Given the description of an element on the screen output the (x, y) to click on. 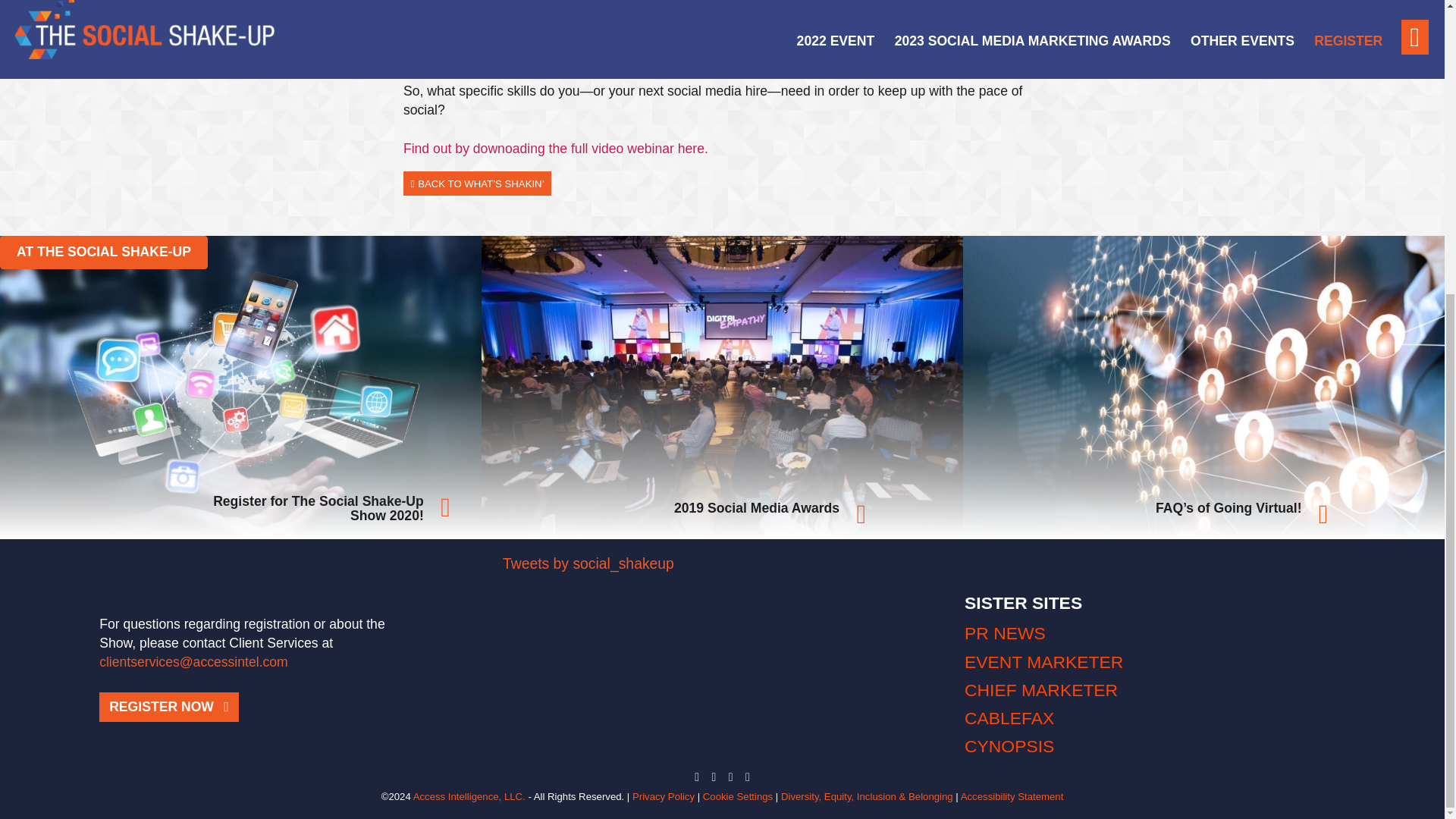
CHIEF MARKETER (1040, 690)
PR NEWS (1004, 632)
Access Intelligence, LLC. (469, 796)
Accessibility Statement (1012, 796)
Find out by downoading the full video webinar here. (555, 148)
Cookie Settings (738, 796)
REGISTER NOW (168, 706)
CABLEFAX (1008, 718)
CYNOPSIS (1008, 745)
EVENT MARKETER (1042, 660)
